Given the description of an element on the screen output the (x, y) to click on. 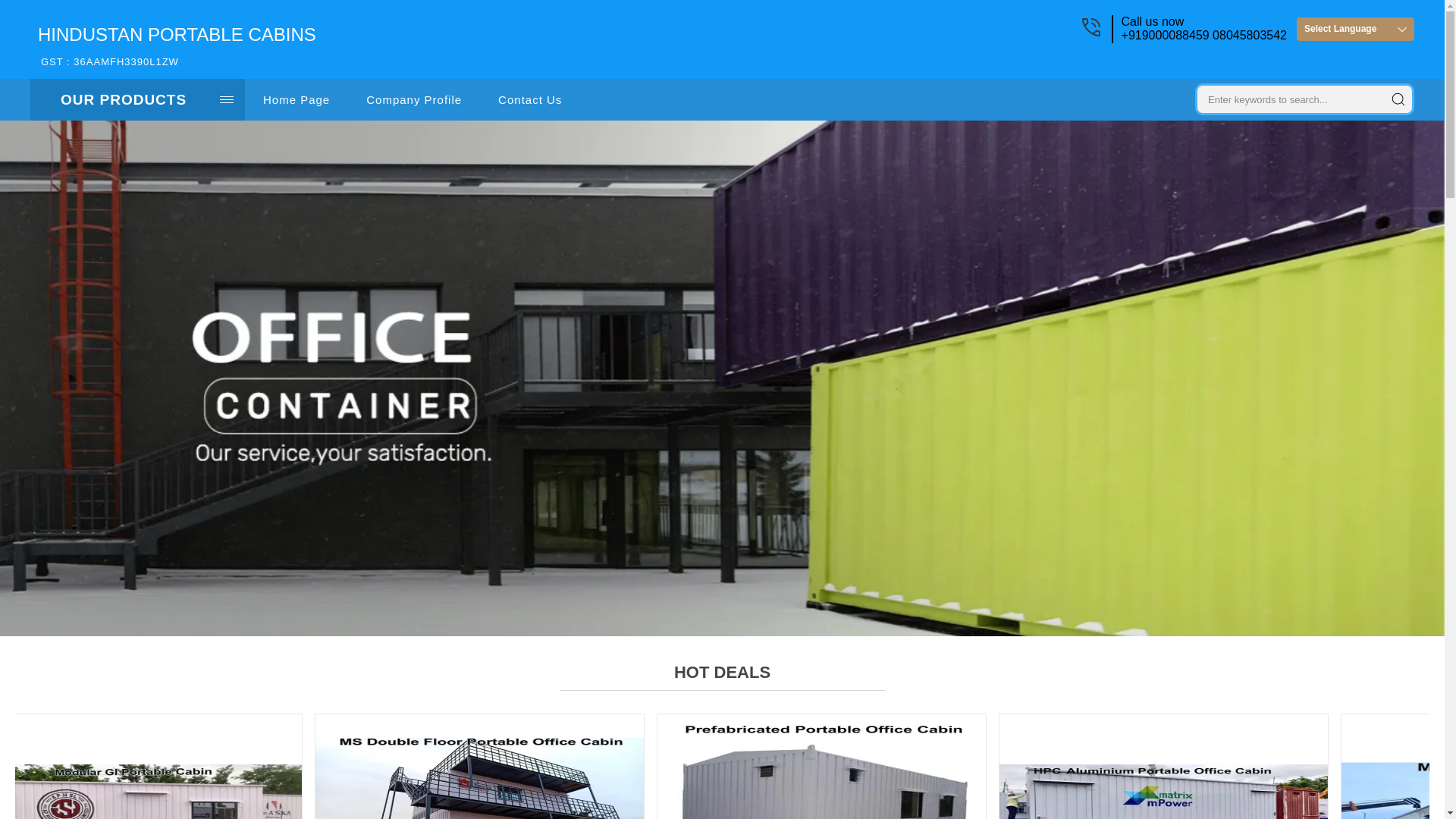
Double Floor Portable Office Cabin (479, 766)
Modular GI Portable Cabin (150, 766)
submit (176, 46)
Portable Office Cabin (1398, 98)
Enter keywords to search... (821, 766)
Select Language (1286, 97)
HPC Aluminium Portable Office Cabin (1355, 28)
submit (1162, 766)
OUR PRODUCTS (1398, 98)
